Given the description of an element on the screen output the (x, y) to click on. 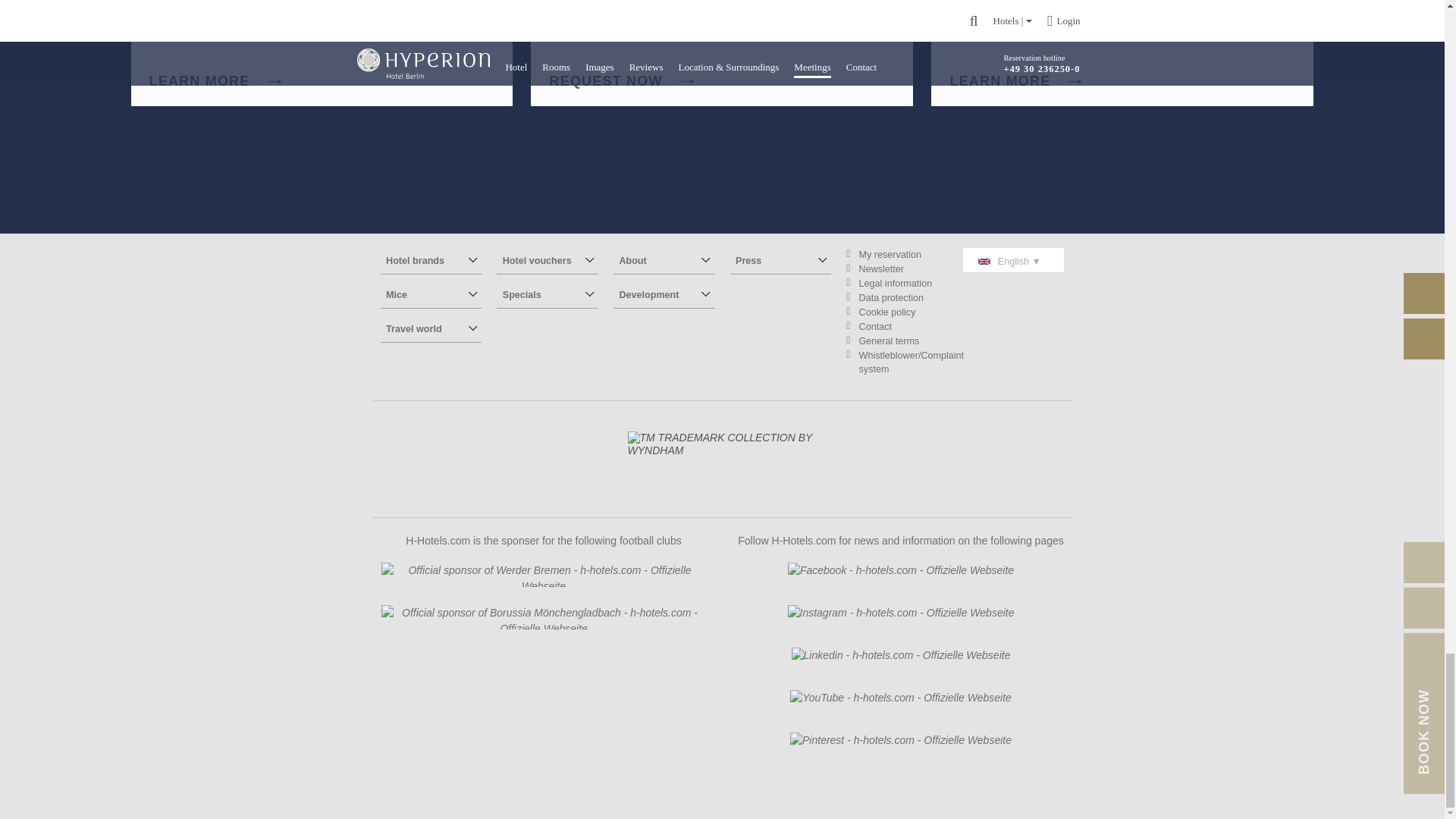
Put together your own conference event (331, 53)
Contact us and we will help you with your conference (620, 80)
Put together your own conference event (214, 80)
Contact us and we will help you with your conference (731, 53)
